Given the description of an element on the screen output the (x, y) to click on. 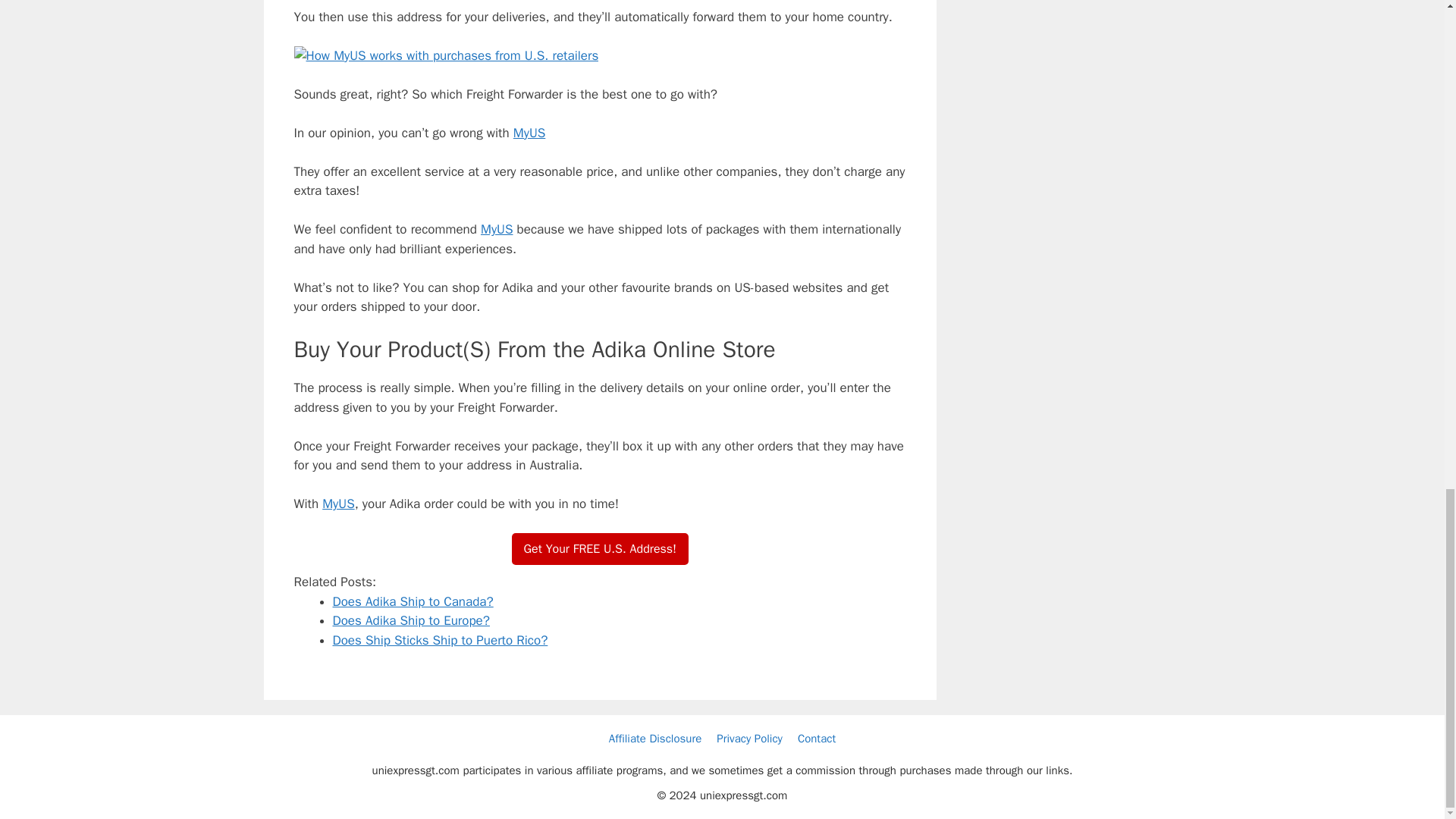
MyUS (337, 503)
Contact (816, 737)
MyUS (496, 229)
Privacy Policy (749, 737)
Does Adika Ship to Canada? (412, 600)
Affiliate Disclosure (654, 737)
Does Ship Sticks Ship to Puerto Rico? (439, 640)
MyUS (528, 132)
Get Your FREE U.S. Address! (600, 549)
Does Adika Ship to Europe? (410, 620)
